Given the description of an element on the screen output the (x, y) to click on. 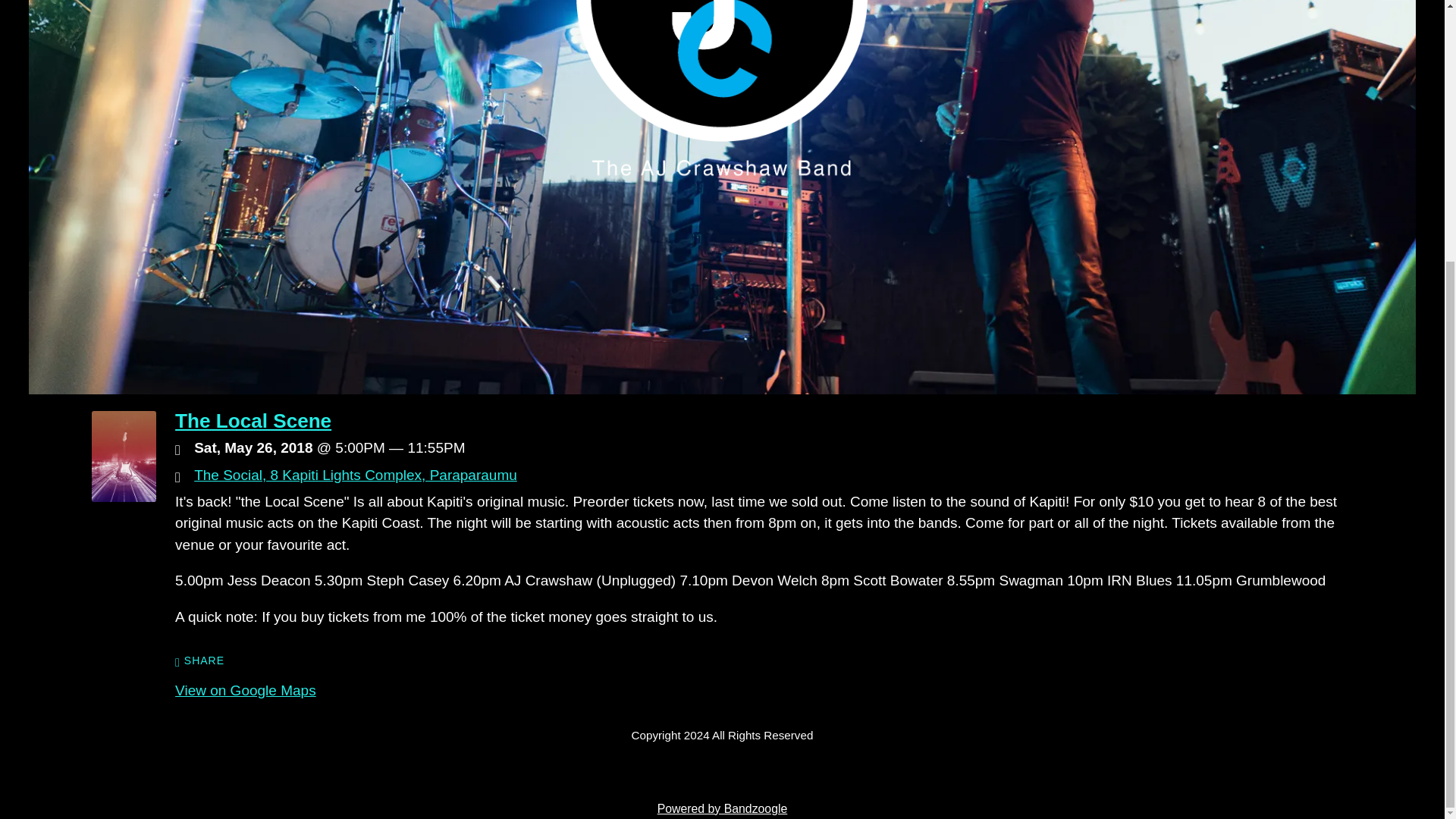
View on Google Maps (244, 690)
View on Google Maps (354, 474)
SHARE (199, 661)
Powered by Bandzoogle (722, 808)
The Local Scene (123, 496)
Powered by Bandzoogle (722, 808)
The Local Scene (252, 420)
The Social, 8 Kapiti Lights Complex, Paraparaumu (354, 474)
